Given the description of an element on the screen output the (x, y) to click on. 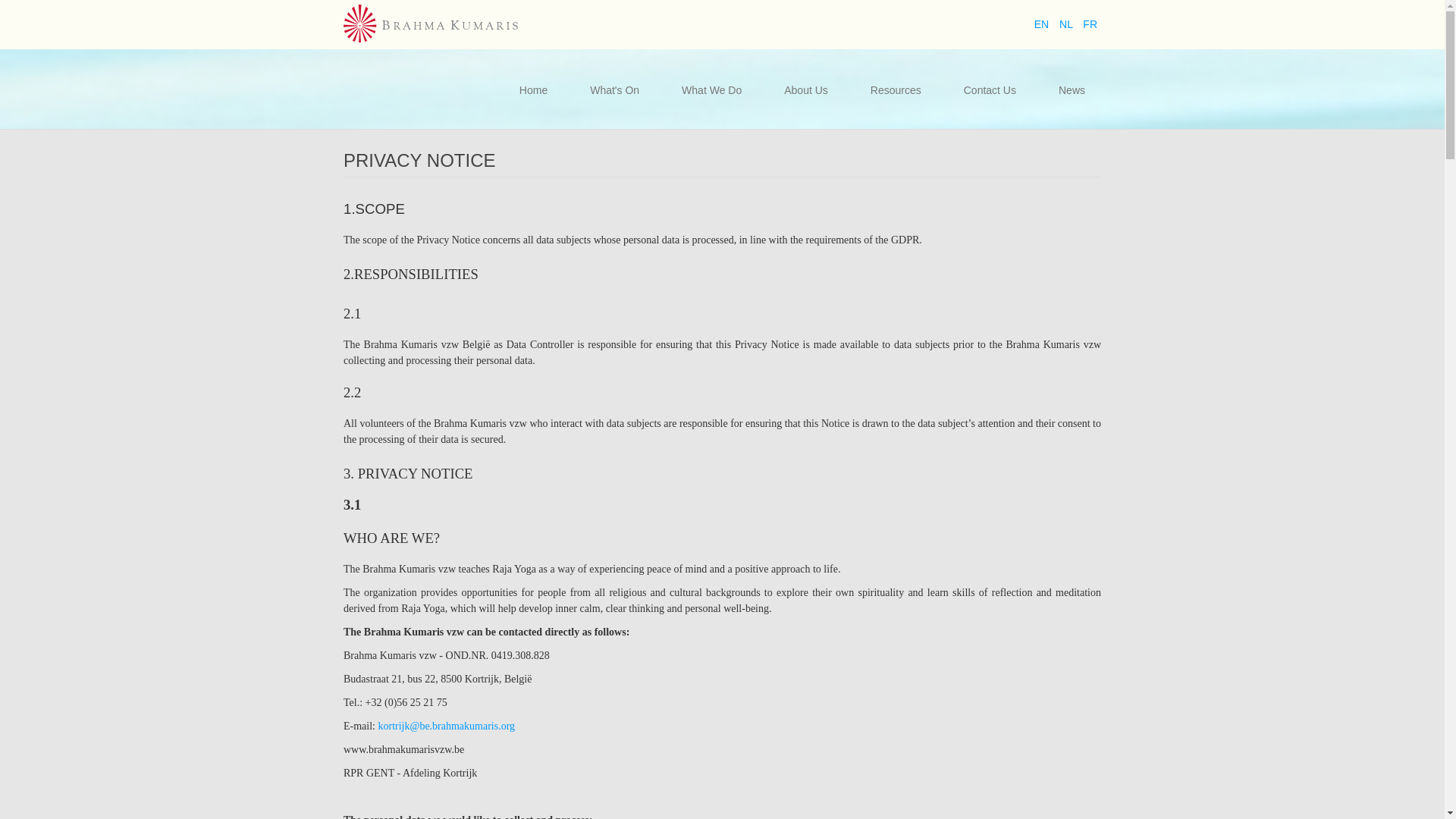
News Element type: text (1071, 90)
Home Element type: text (533, 90)
EN Element type: text (1042, 24)
What's On Element type: text (614, 90)
Resources Element type: text (895, 90)
FR Element type: text (1089, 24)
NL Element type: text (1067, 24)
What We Do Element type: text (711, 90)
About Us Element type: text (806, 90)
kortrijk@be.brahmakumaris.org Element type: text (445, 725)
Contact Us Element type: text (989, 90)
